Given the description of an element on the screen output the (x, y) to click on. 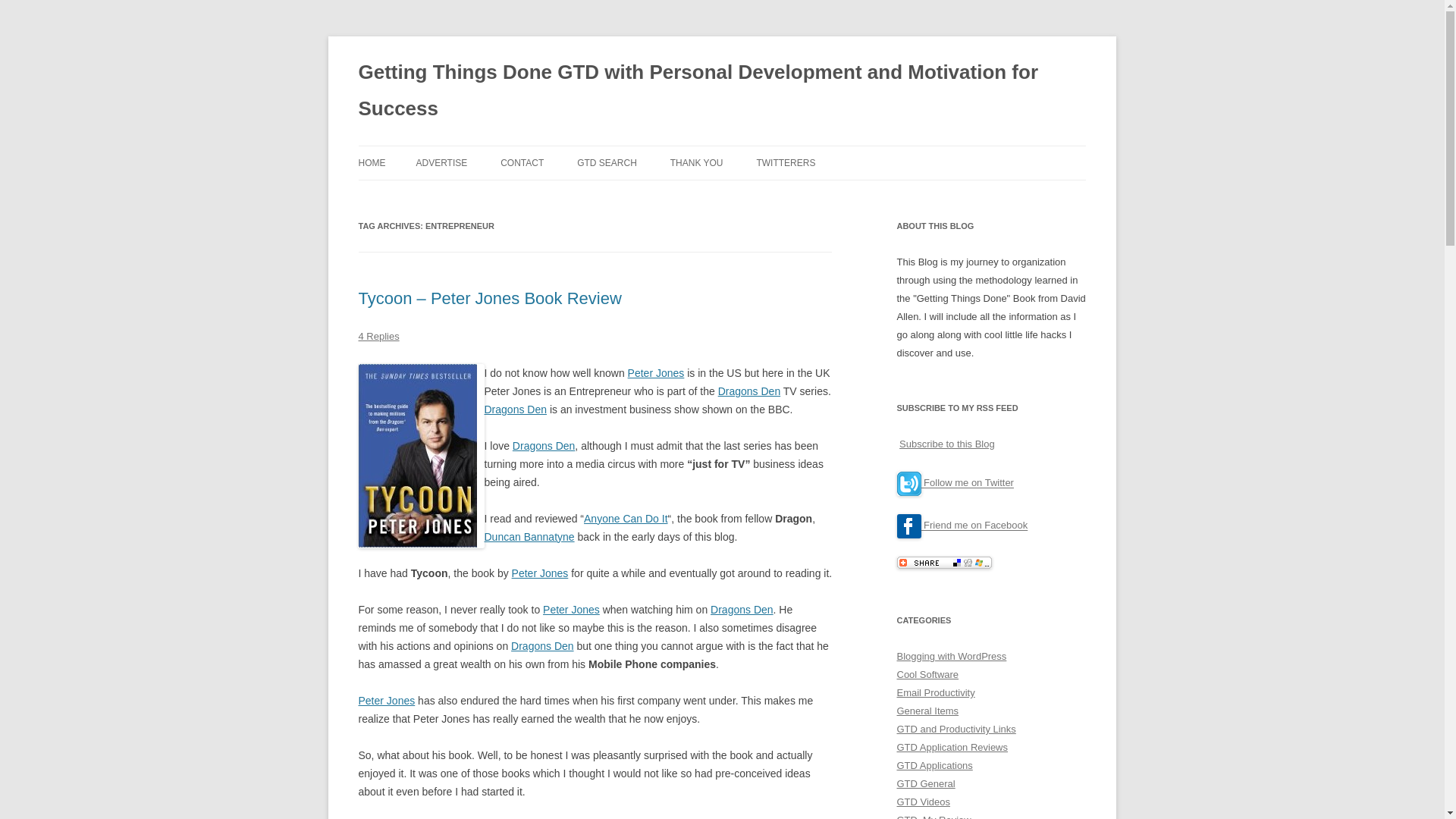
Peter Jones (540, 573)
CONTACT (521, 162)
GTD SEARCH (606, 162)
ADVERTISE (440, 162)
Follow me on Twitter (966, 482)
Dragons Den (543, 445)
THANK YOU (696, 162)
4 Replies (378, 336)
Peter Jones (386, 700)
Duncan Bannatyne (528, 536)
Peter Jones (571, 609)
Dragons Den (542, 645)
Dragons Den (515, 409)
